Given the description of an element on the screen output the (x, y) to click on. 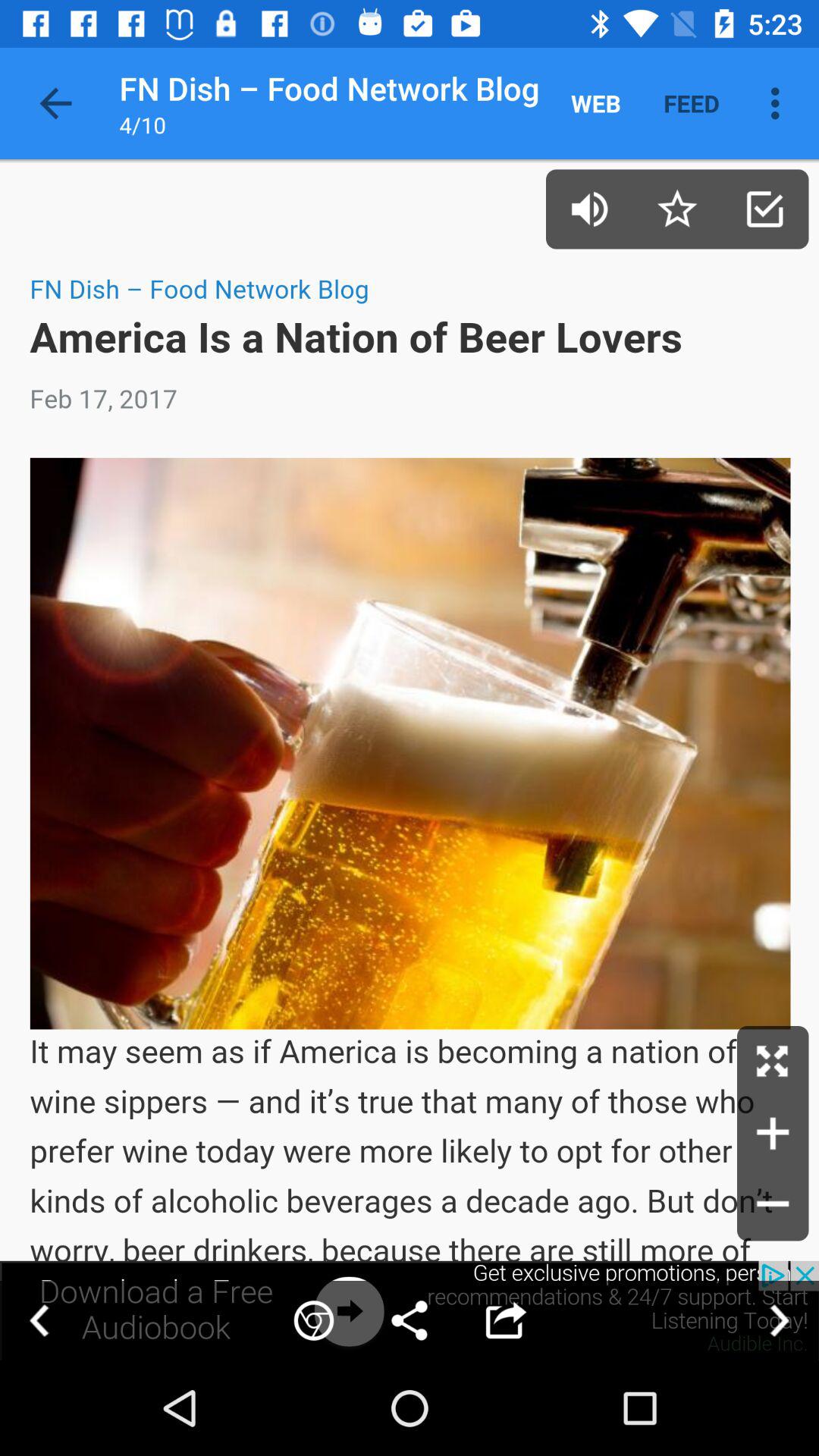
go back (39, 1320)
